Given the description of an element on the screen output the (x, y) to click on. 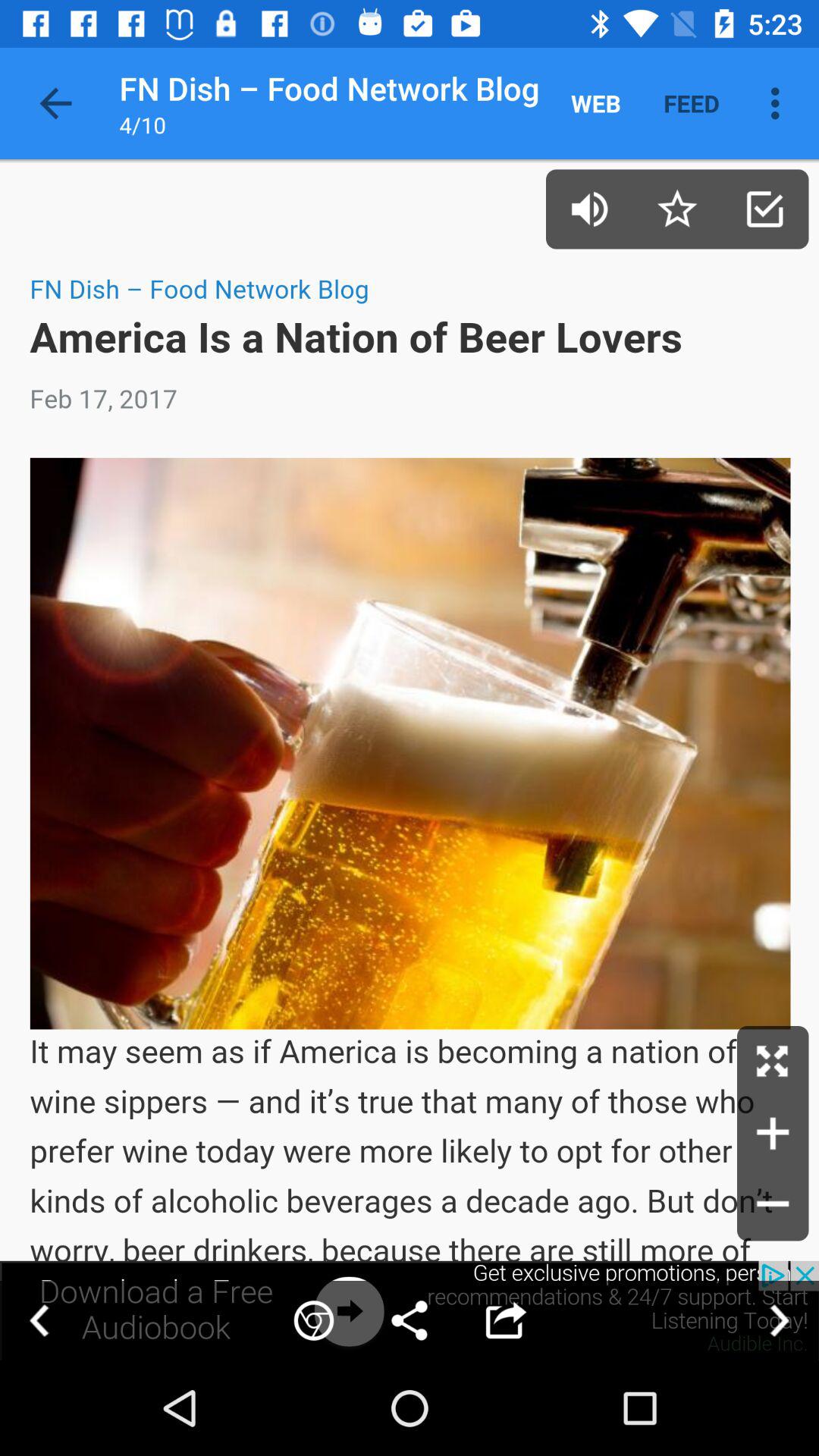
go back (39, 1320)
